Given the description of an element on the screen output the (x, y) to click on. 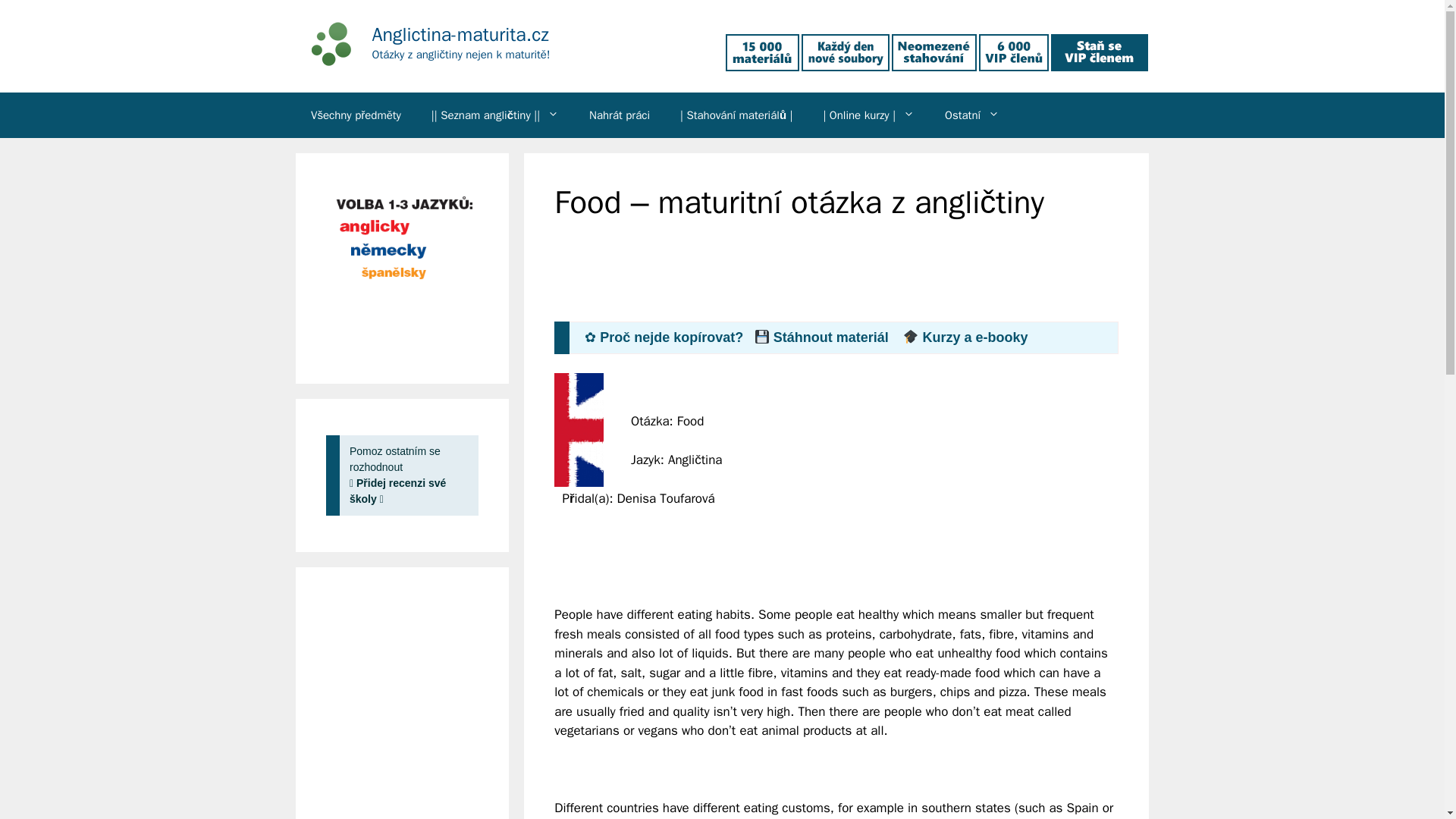
Anglictina-maturita.cz (323, 43)
Anglictina-maturita.cz (323, 42)
Advertisement (830, 281)
Anglictina-maturita.cz (459, 33)
